Given the description of an element on the screen output the (x, y) to click on. 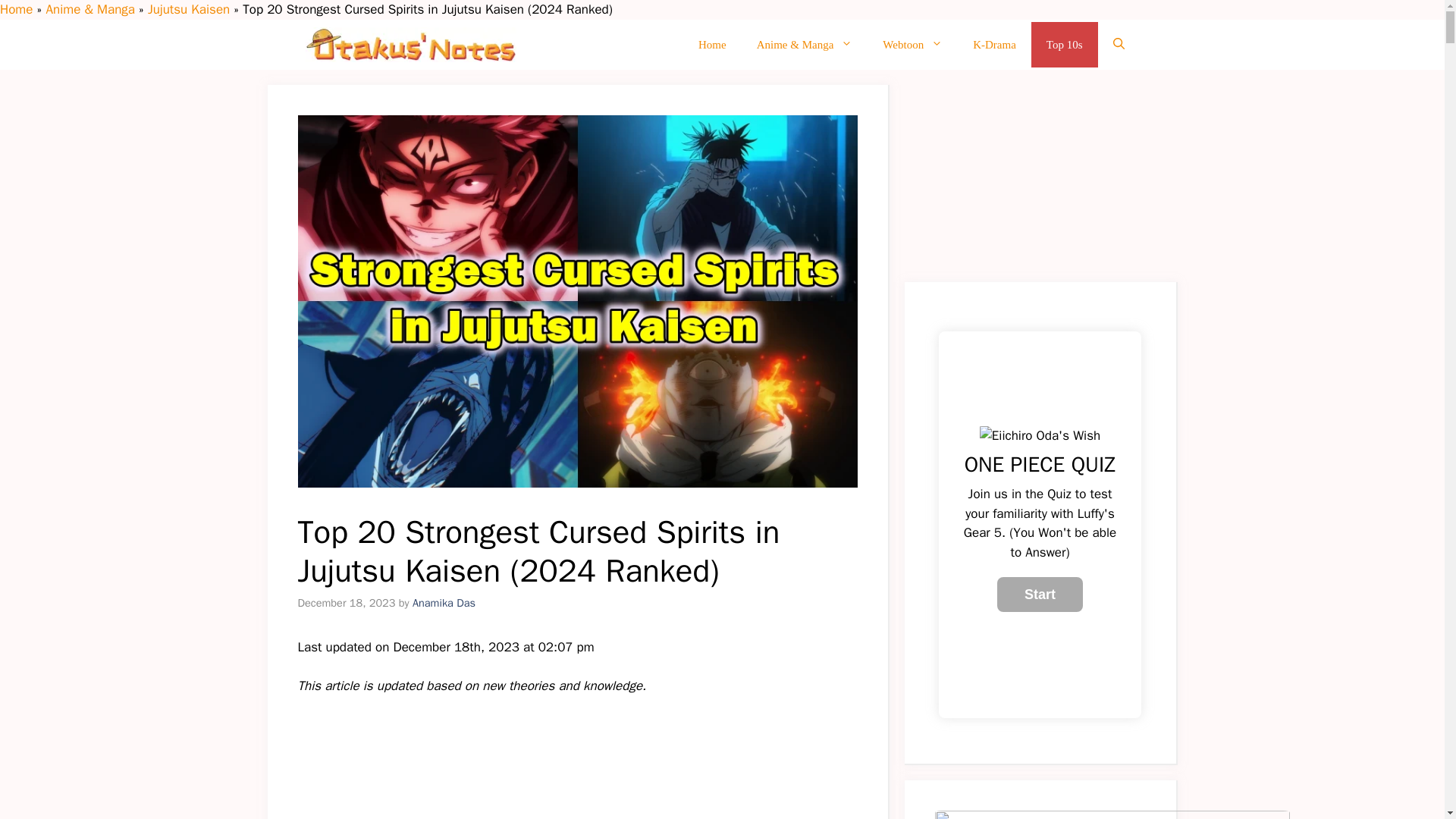
Top 10s (1063, 43)
Webtoon (912, 43)
K-Drama (994, 43)
Home (711, 43)
Anamika Das (444, 602)
Home (16, 9)
Start (1040, 594)
OtakusNotes (409, 44)
View all posts by Anamika Das (444, 602)
Jujutsu Kaisen (189, 9)
